Given the description of an element on the screen output the (x, y) to click on. 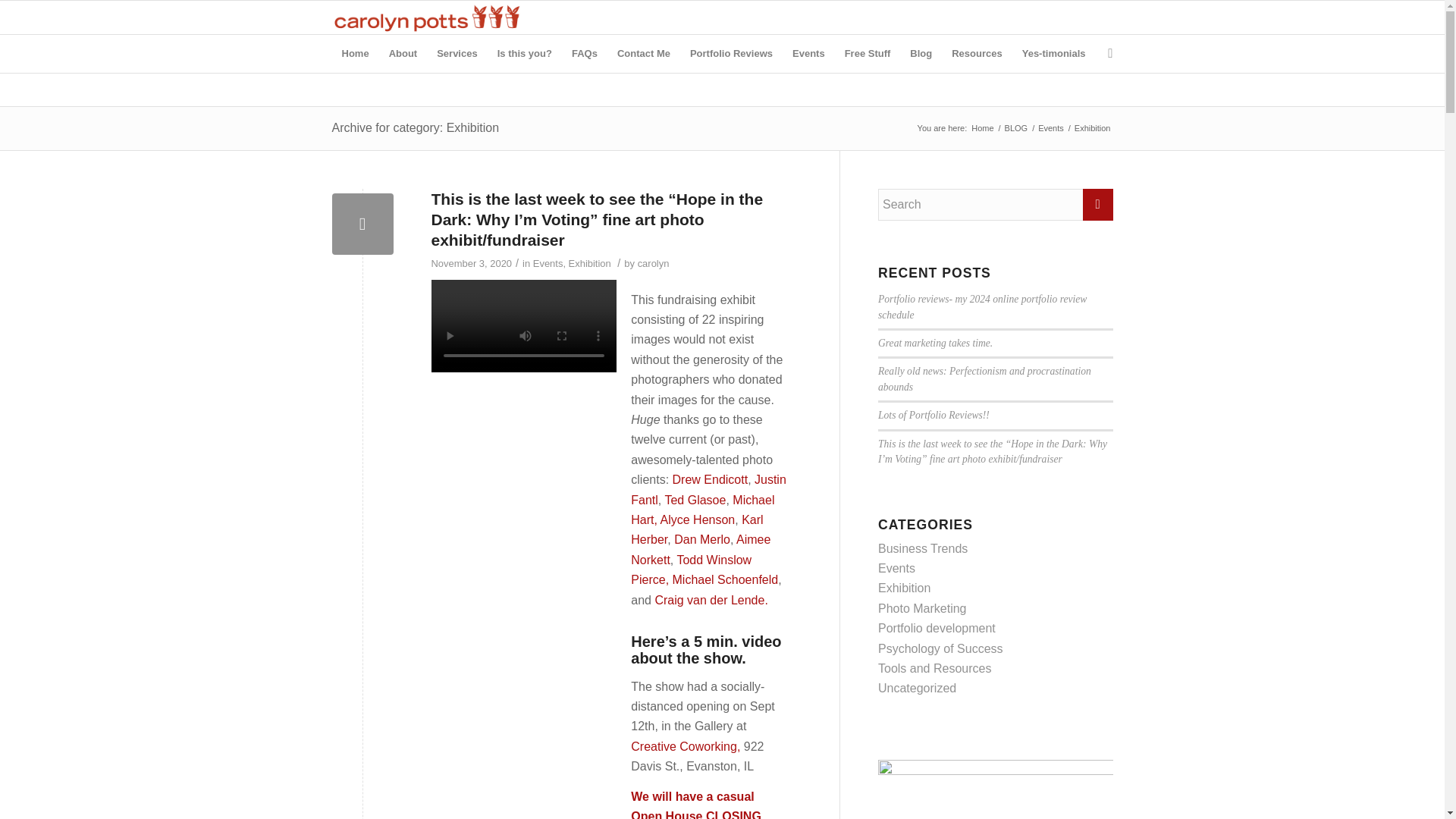
Services (456, 53)
Yes-timonials (1053, 53)
Karl Herber (696, 529)
Todd Winslow Pierce, (690, 569)
Free Stuff (867, 53)
Events (547, 263)
Events (1050, 128)
Alyce Henson (698, 519)
Events (808, 53)
Portfolio Reviews (731, 53)
